Given the description of an element on the screen output the (x, y) to click on. 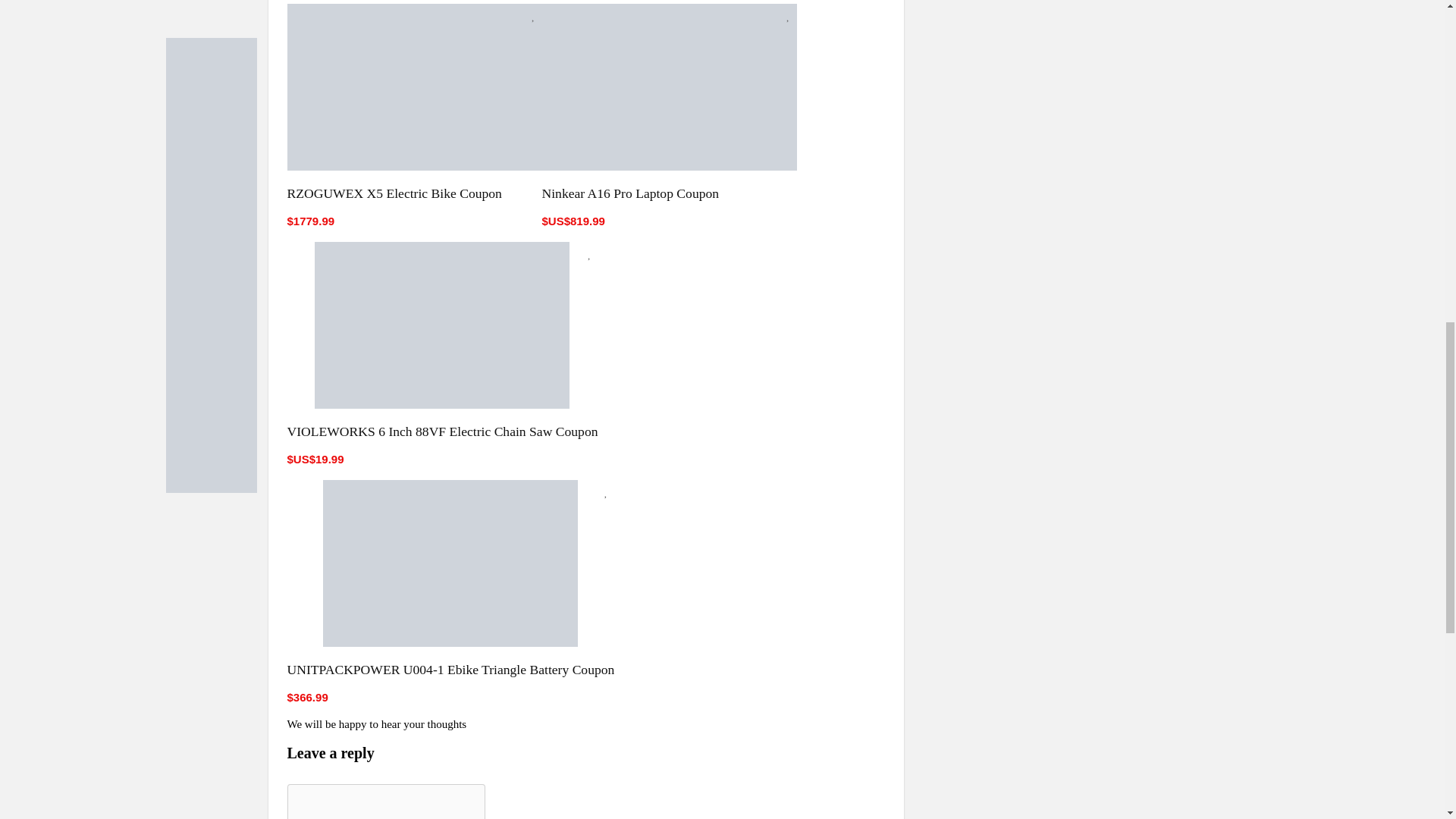
Ninkear A16 Pro Laptop Coupon (630, 192)
VIOLEWORKS 6 Inch 88VF Electric Chain Saw Coupon (441, 431)
RZOGUWEX X5 Electric Bike Coupon (393, 192)
UNITPACKPOWER U004-1 Ebike Triangle Battery Coupon (450, 669)
